Given the description of an element on the screen output the (x, y) to click on. 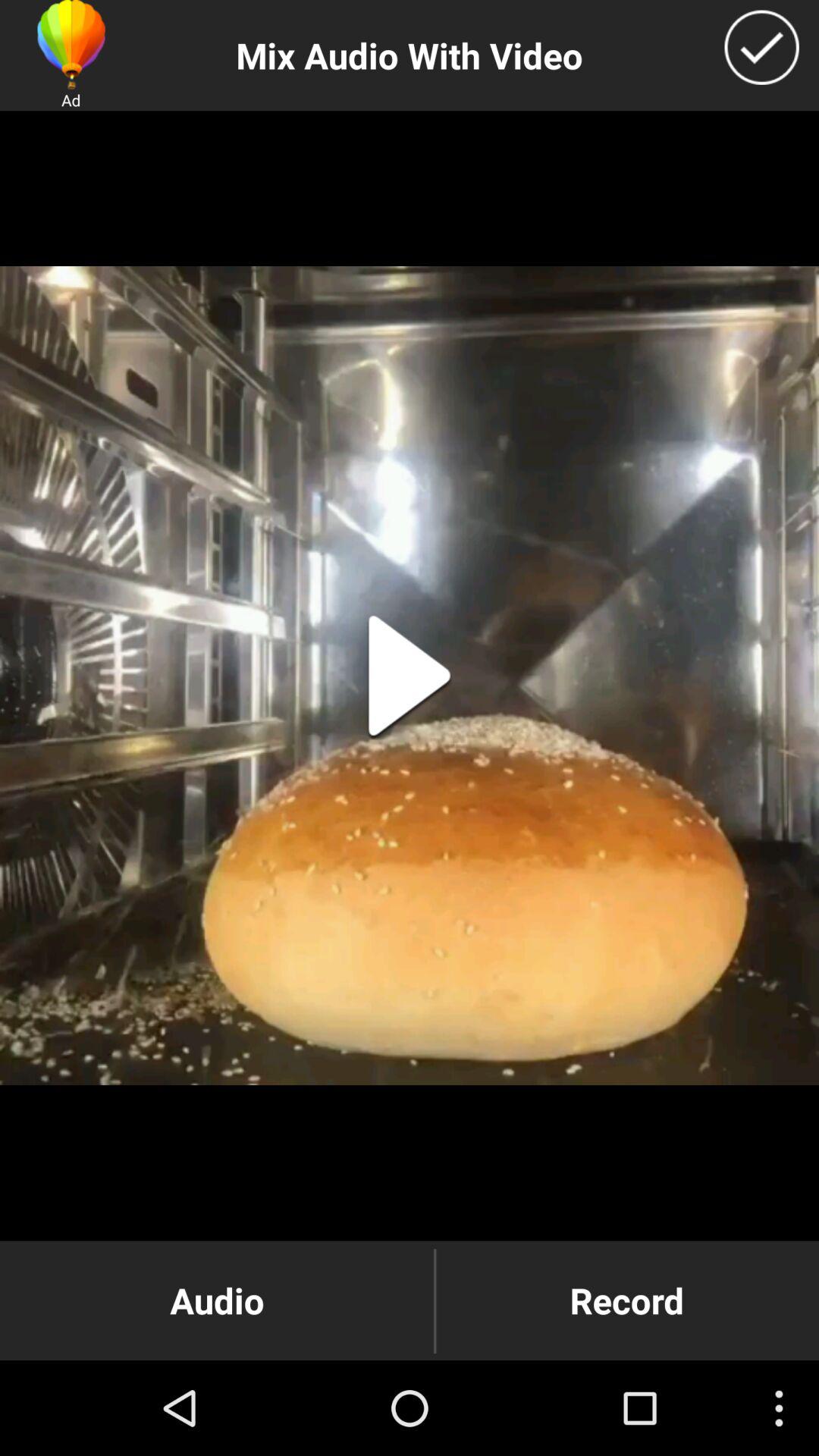
play the video (409, 675)
